Given the description of an element on the screen output the (x, y) to click on. 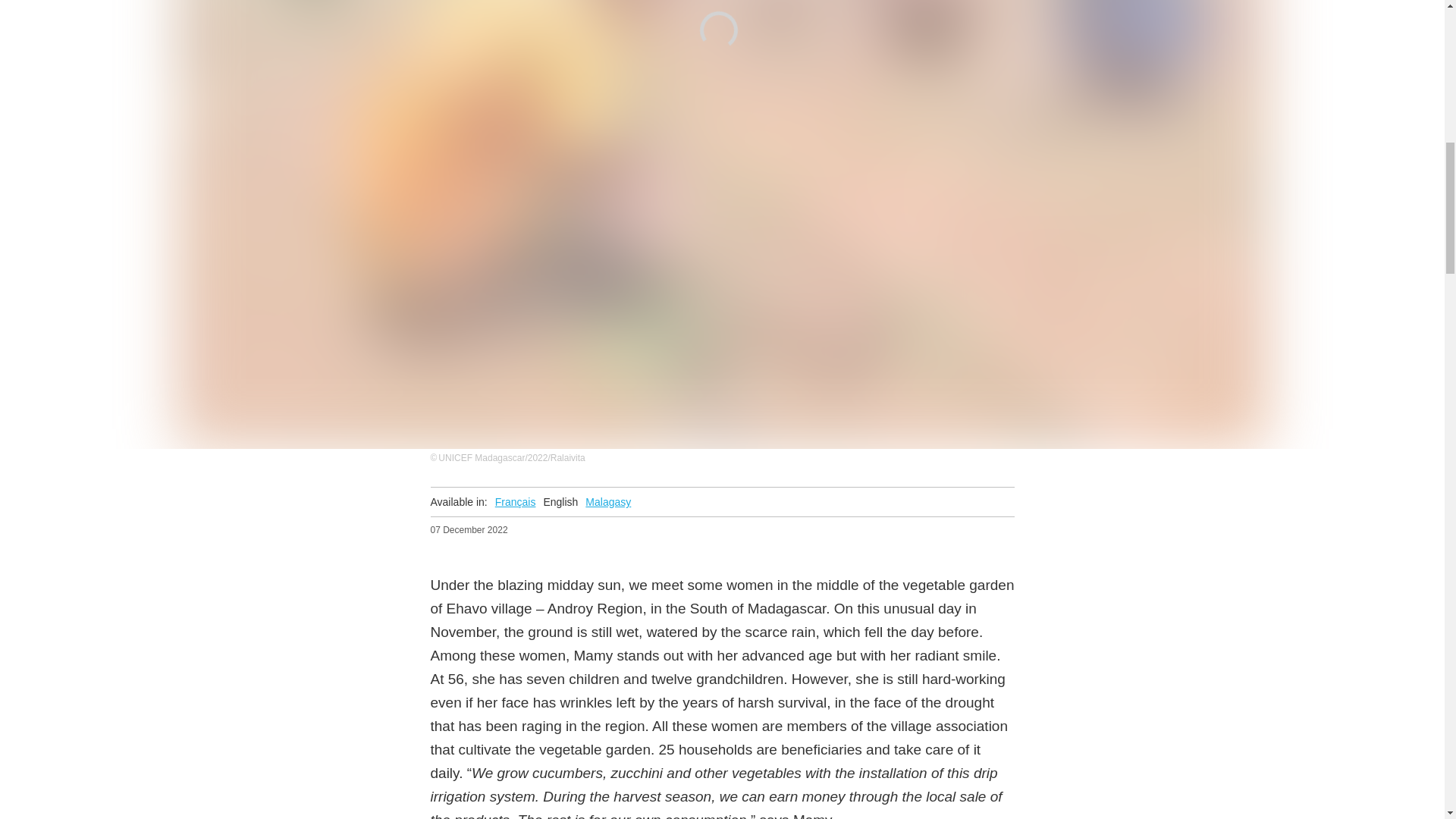
Malagasy (607, 501)
